Given the description of an element on the screen output the (x, y) to click on. 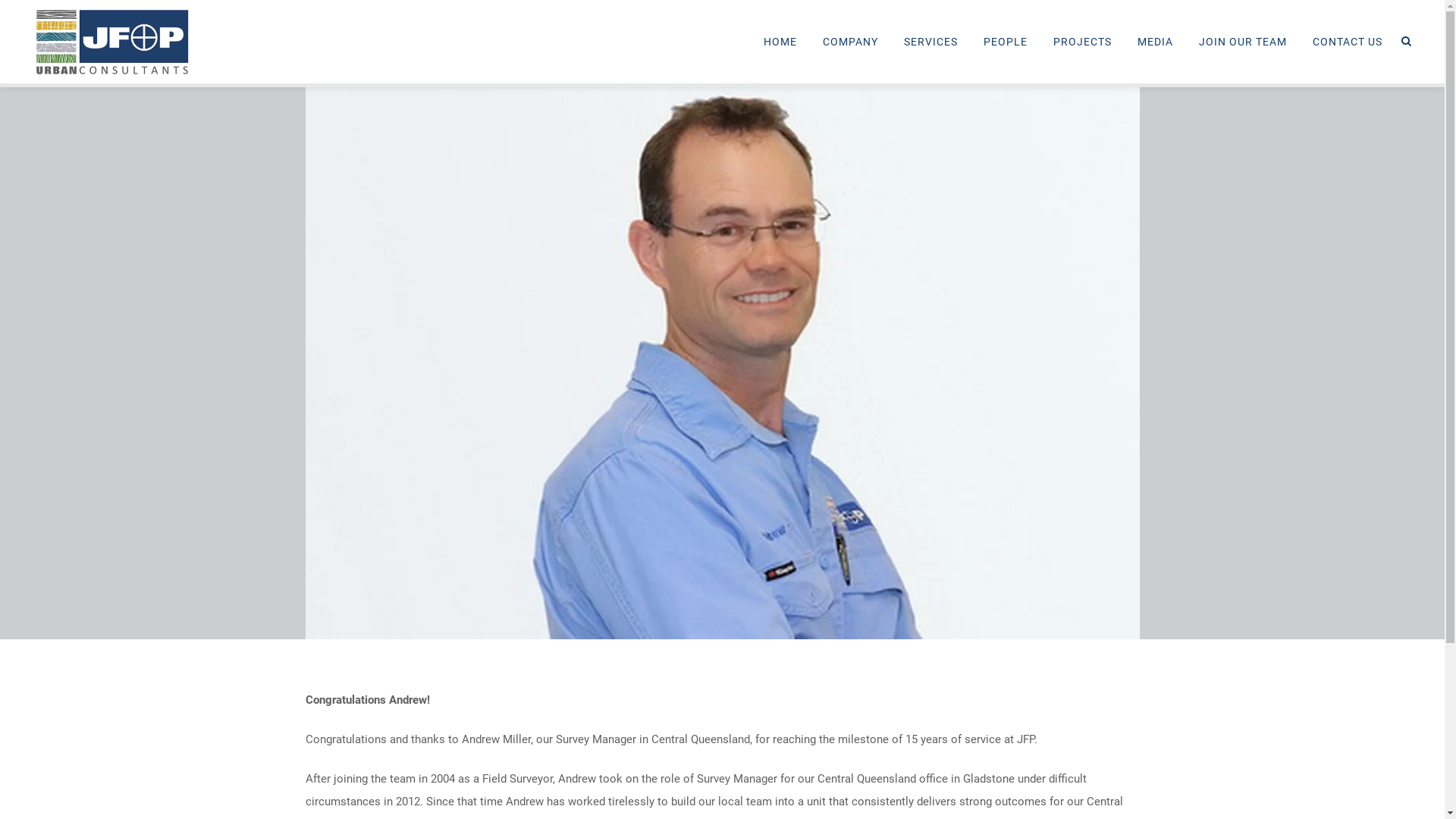
HOME Element type: text (779, 41)
MEDIA Element type: text (1155, 41)
COMPANY Element type: text (850, 41)
PEOPLE Element type: text (1005, 41)
JOIN OUR TEAM Element type: text (1242, 41)
PROJECTS Element type: text (1082, 41)
CONTACT US Element type: text (1347, 41)
SERVICES Element type: text (930, 41)
